Given the description of an element on the screen output the (x, y) to click on. 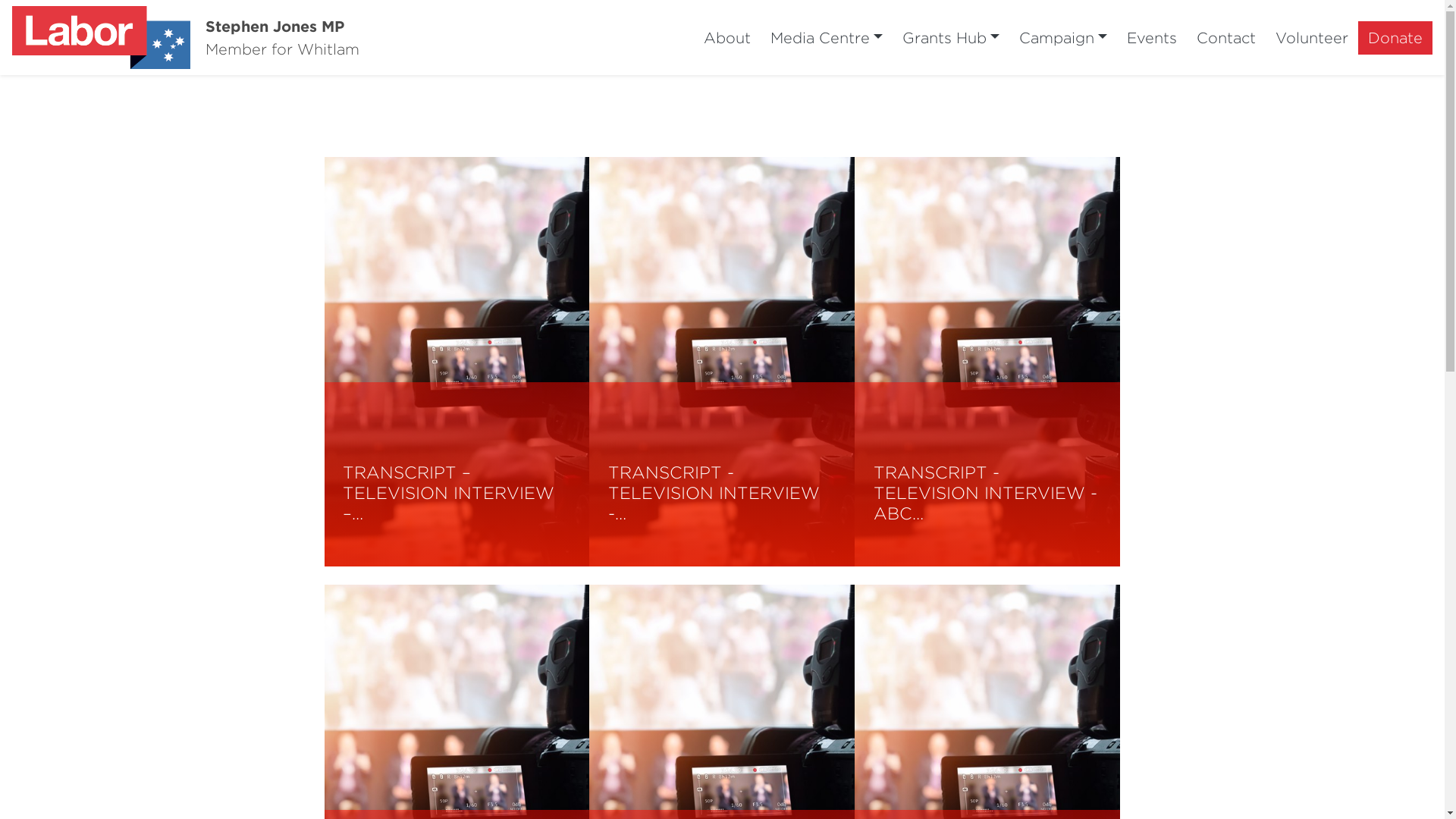
Volunteer Element type: text (1311, 37)
Campaign Element type: text (1063, 37)
Events Element type: text (1151, 37)
Grants Hub Element type: text (950, 37)
Media Centre Element type: text (826, 37)
Contact Element type: text (1225, 37)
About Element type: text (726, 37)
Donate Element type: text (1395, 37)
